Given the description of an element on the screen output the (x, y) to click on. 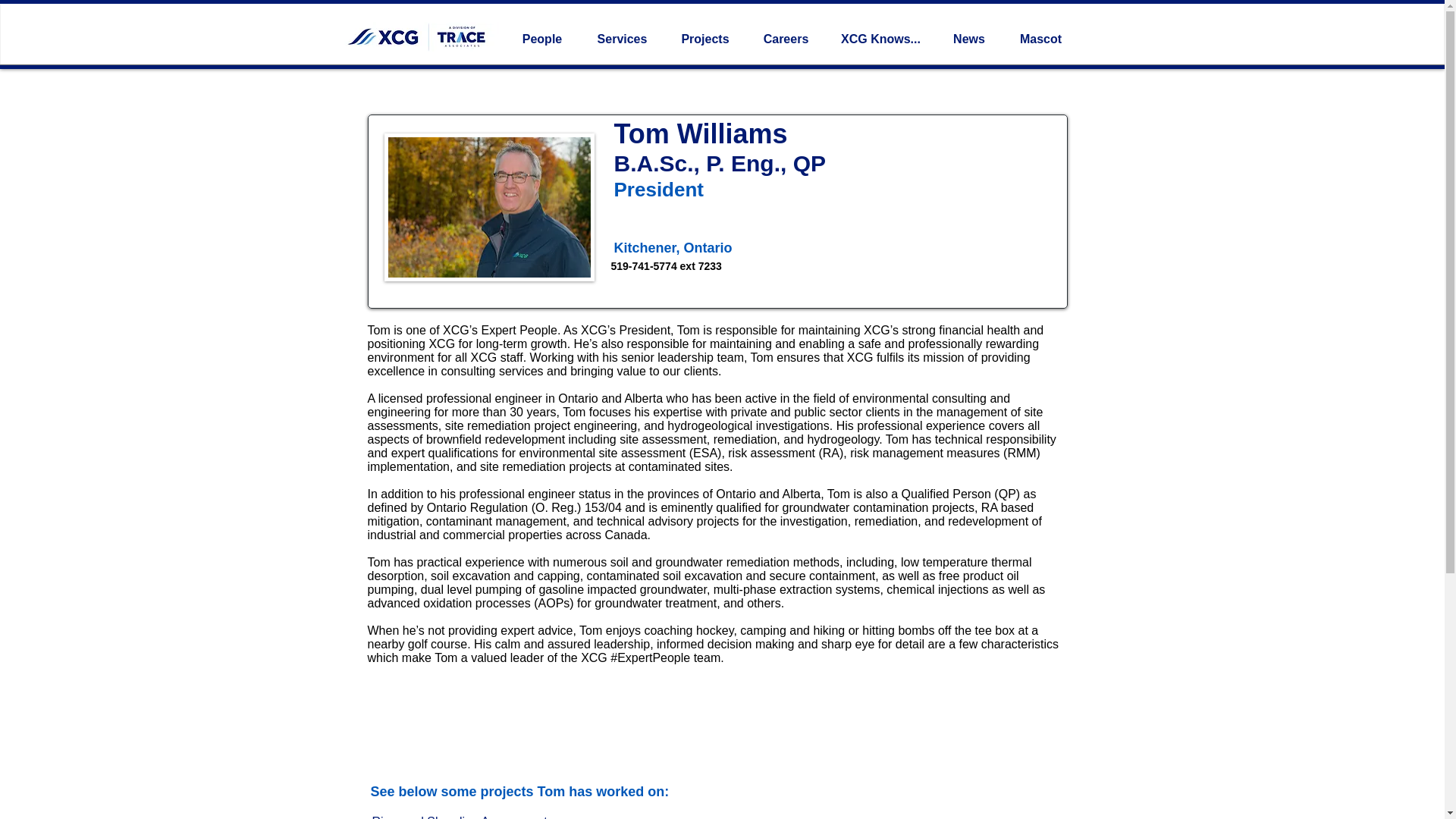
Projects (704, 38)
Mascot (1040, 38)
River and Shoreline Assessment (459, 813)
Careers (785, 38)
People (542, 38)
News (969, 38)
XCG Knows... (879, 38)
Services (621, 38)
